Given the description of an element on the screen output the (x, y) to click on. 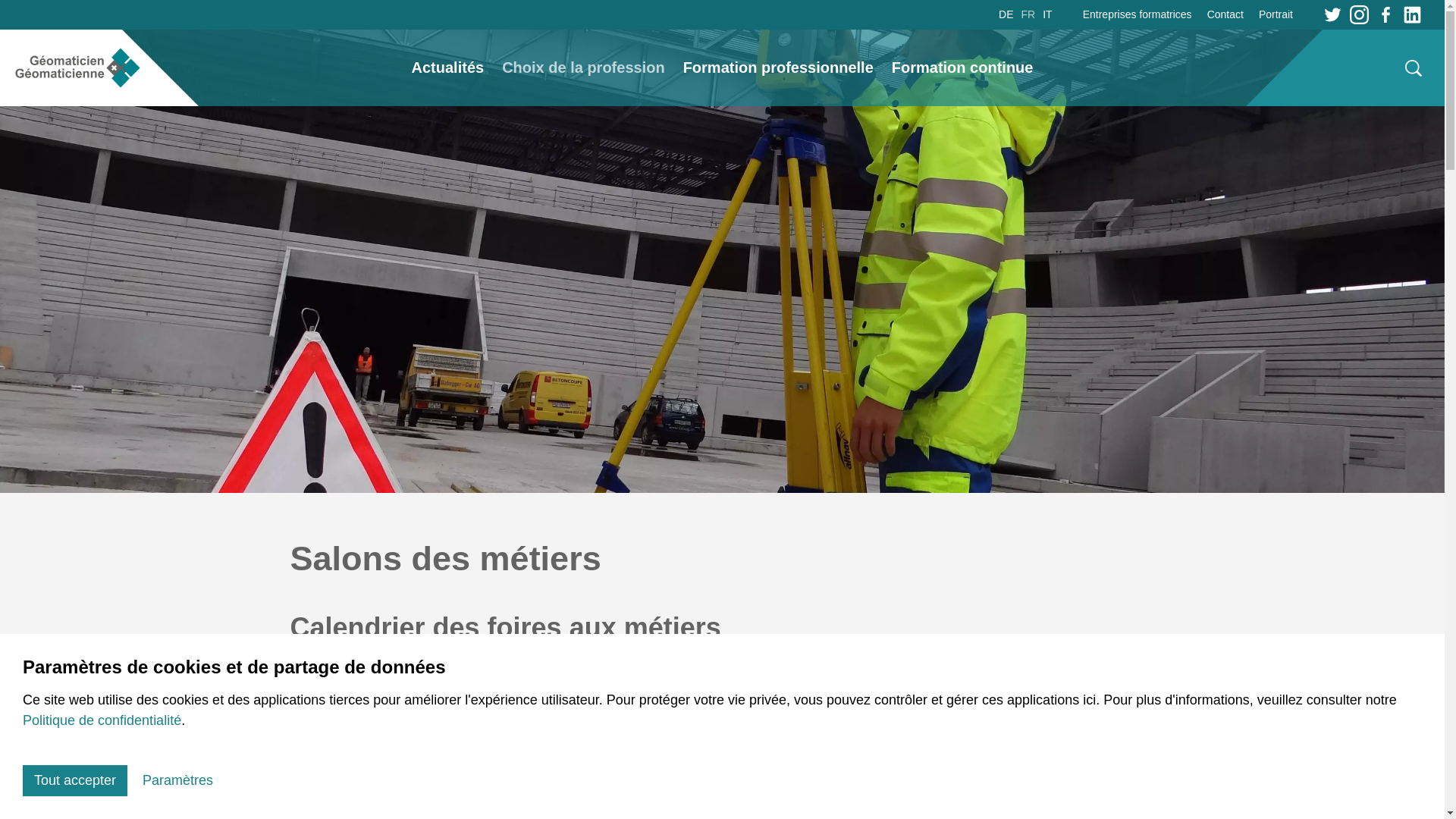
Facebook SwissGEOmatics Element type: hover (1385, 13)
Tout accepter Element type: text (74, 780)
[Translate to FR:]  Element type: hover (722, 246)
Portrait Element type: text (1271, 14)
Twitter SwissGEOmatics Element type: hover (1332, 13)
DE Element type: text (1007, 14)
IT Element type: text (1044, 14)
Formation continue Element type: text (962, 67)
Entreprises formatrices Element type: text (1140, 14)
Formation professionnelle Element type: text (778, 67)
Contact Element type: text (1225, 14)
Choix de la profession Element type: text (582, 67)
Ostschweizer Bildungs-Ausstellung Element type: text (602, 779)
Your Challenge Element type: text (541, 738)
Instagram SwissGEOmatics Element type: hover (1358, 13)
TunBern Element type: text (521, 759)
